Given the description of an element on the screen output the (x, y) to click on. 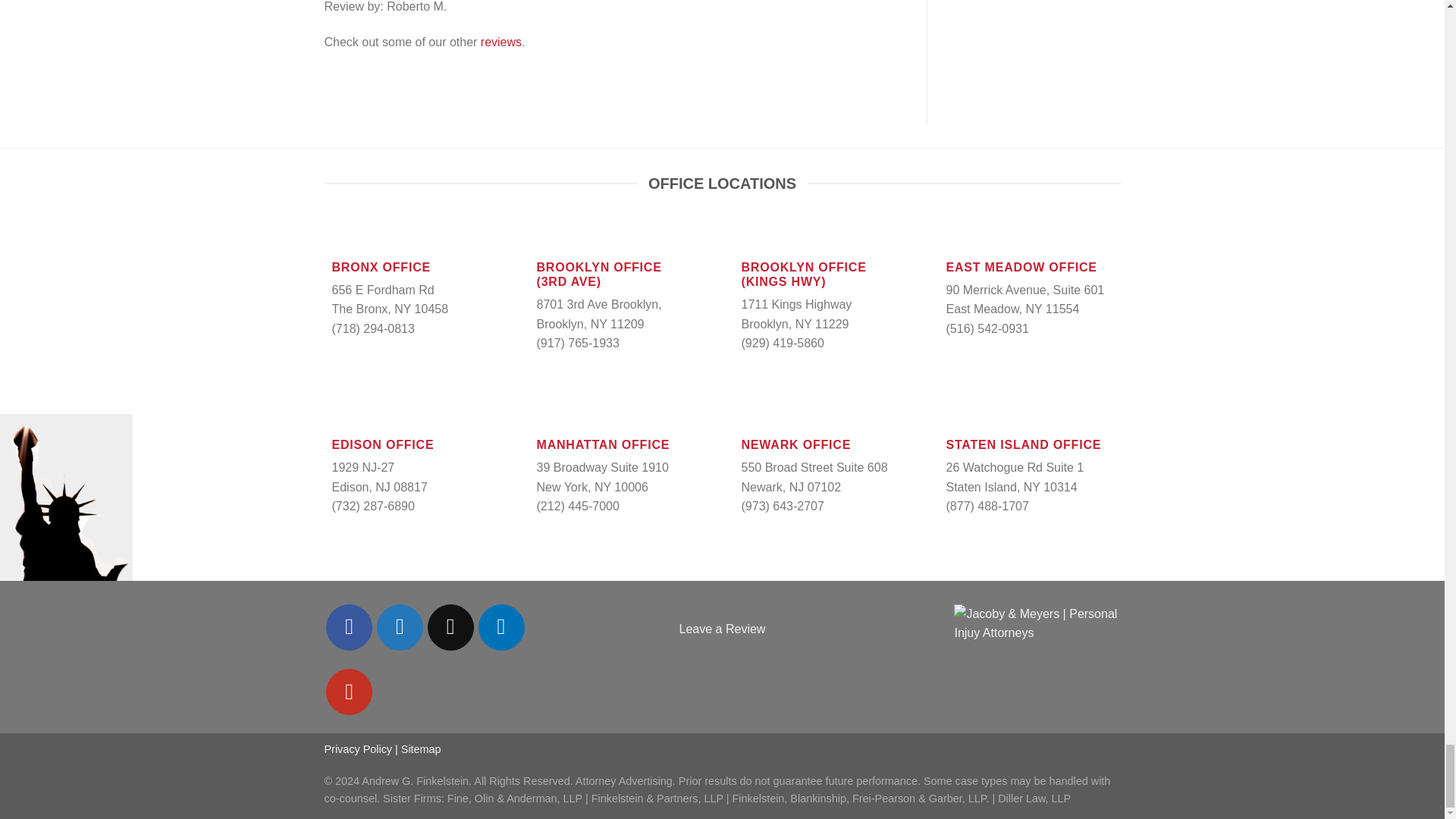
Follow on YouTube (349, 691)
Follow on Facebook (349, 627)
Follow on LinkedIn (501, 627)
Privacy Policy (358, 748)
Send us an email (451, 627)
Follow on Twitter (400, 627)
